Given the description of an element on the screen output the (x, y) to click on. 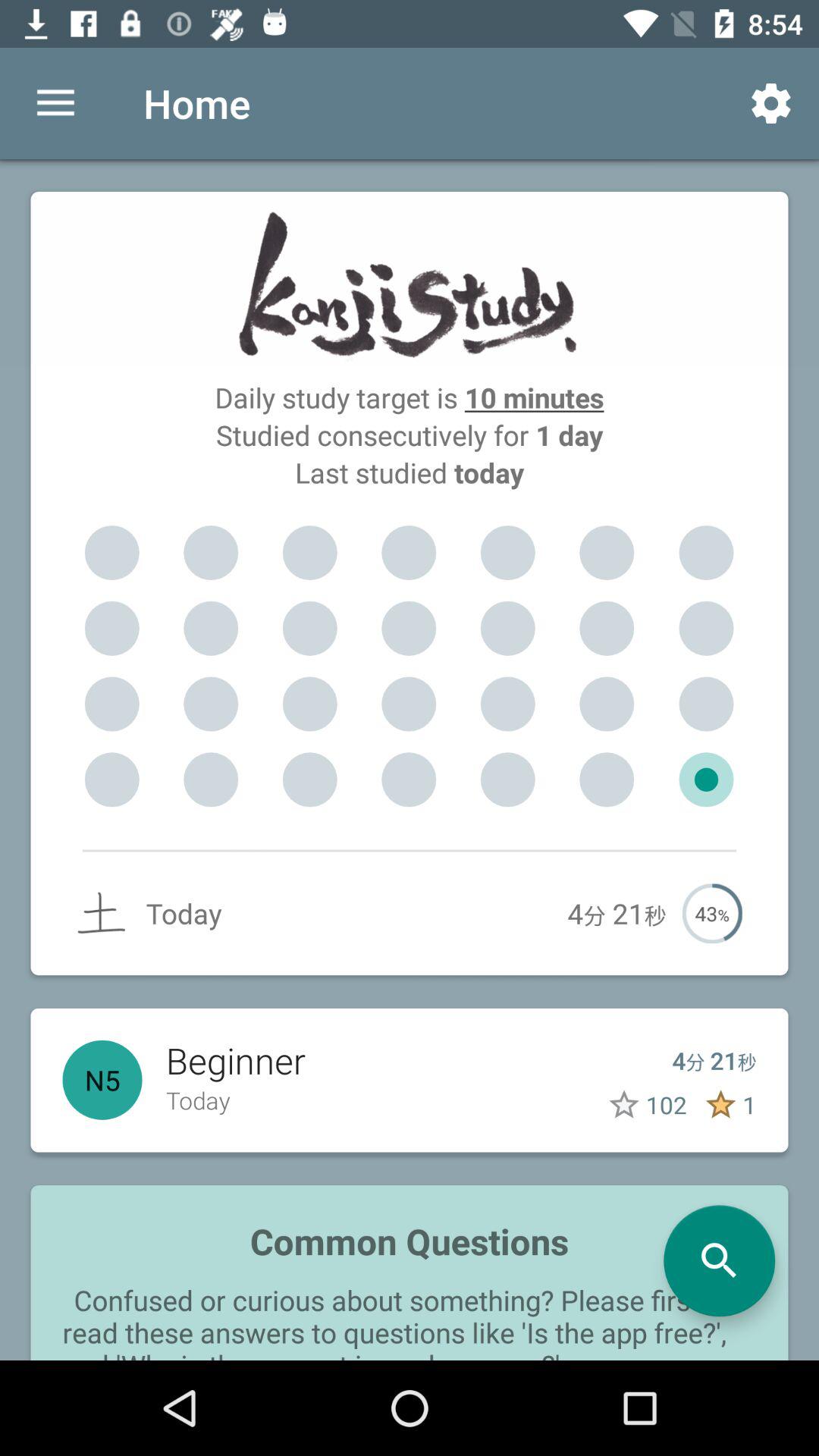
click to start a search (719, 1260)
